Given the description of an element on the screen output the (x, y) to click on. 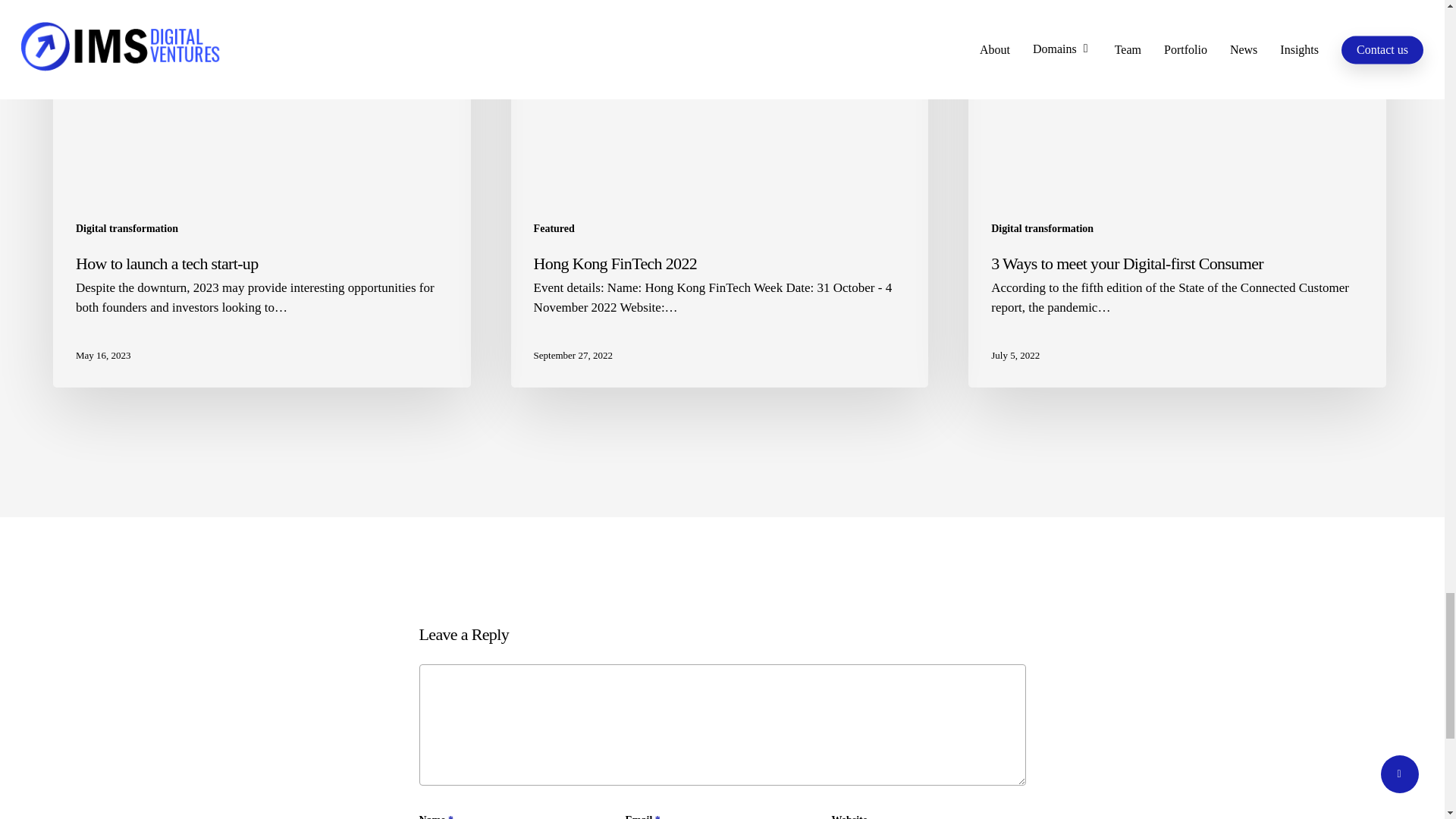
Featured (554, 229)
Digital transformation (126, 229)
Digital transformation (1042, 229)
